Given the description of an element on the screen output the (x, y) to click on. 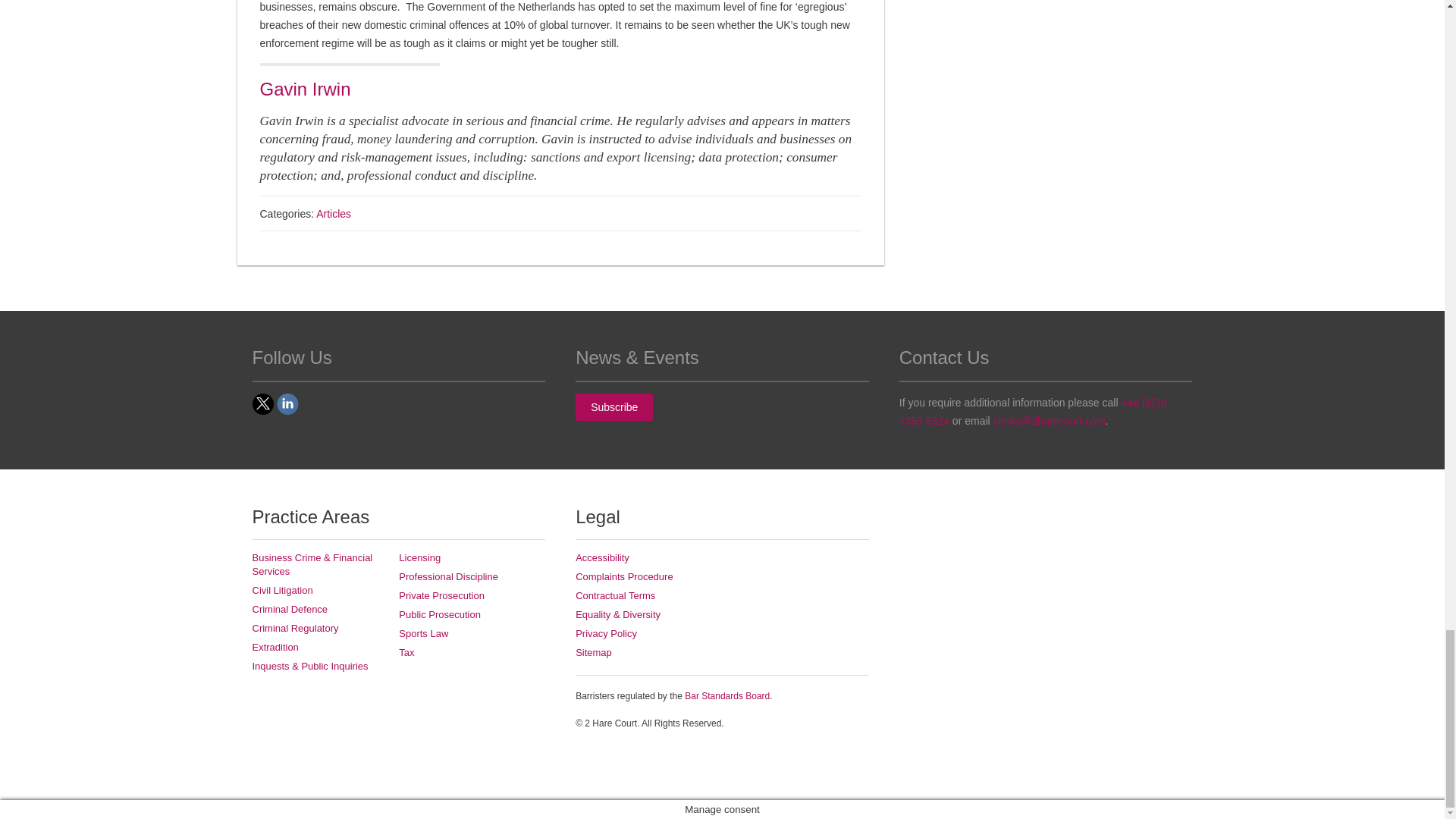
View all posts in Articles (332, 214)
